Given the description of an element on the screen output the (x, y) to click on. 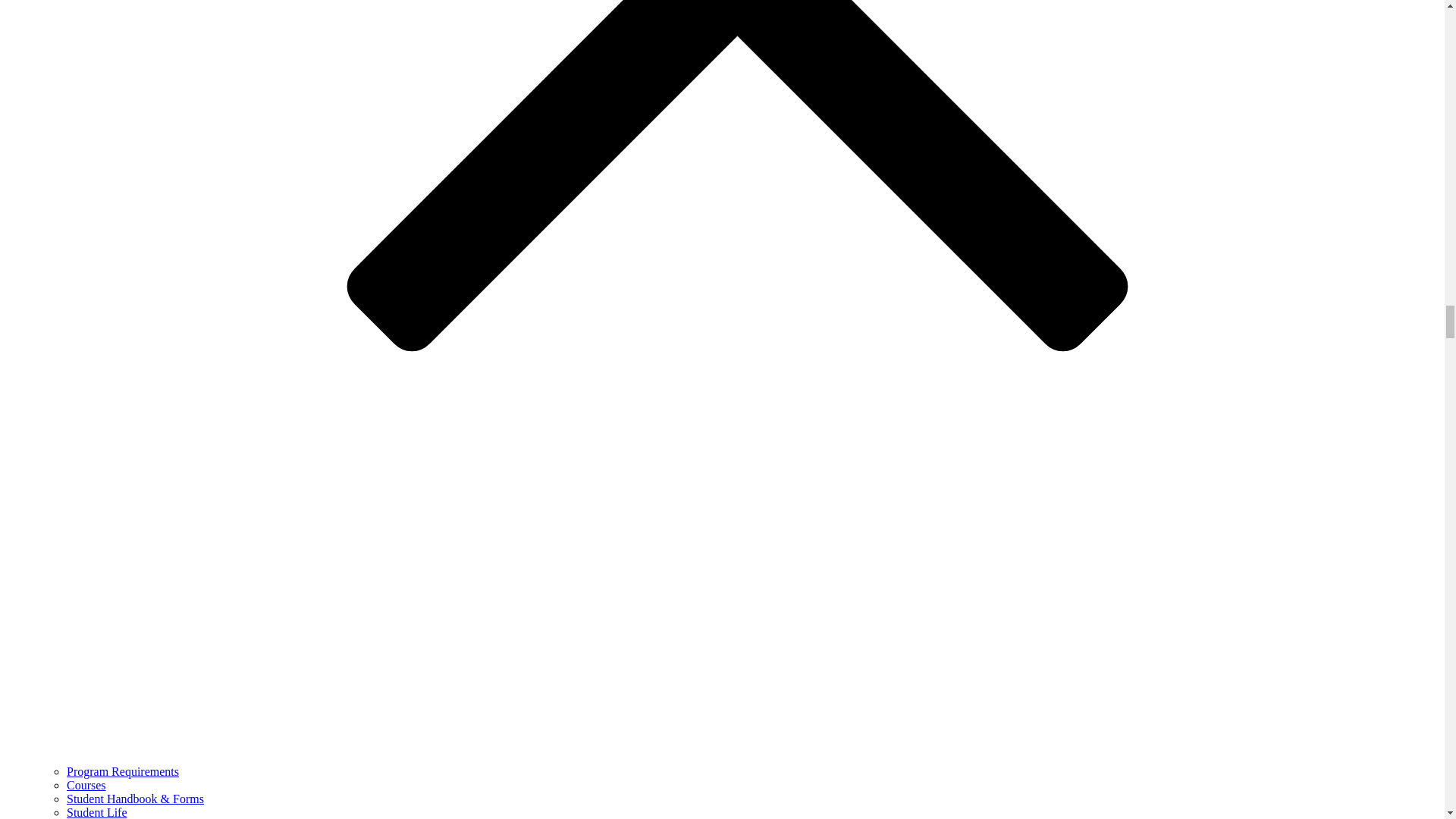
Courses (86, 784)
Student Life (97, 812)
Program Requirements (122, 771)
